Given the description of an element on the screen output the (x, y) to click on. 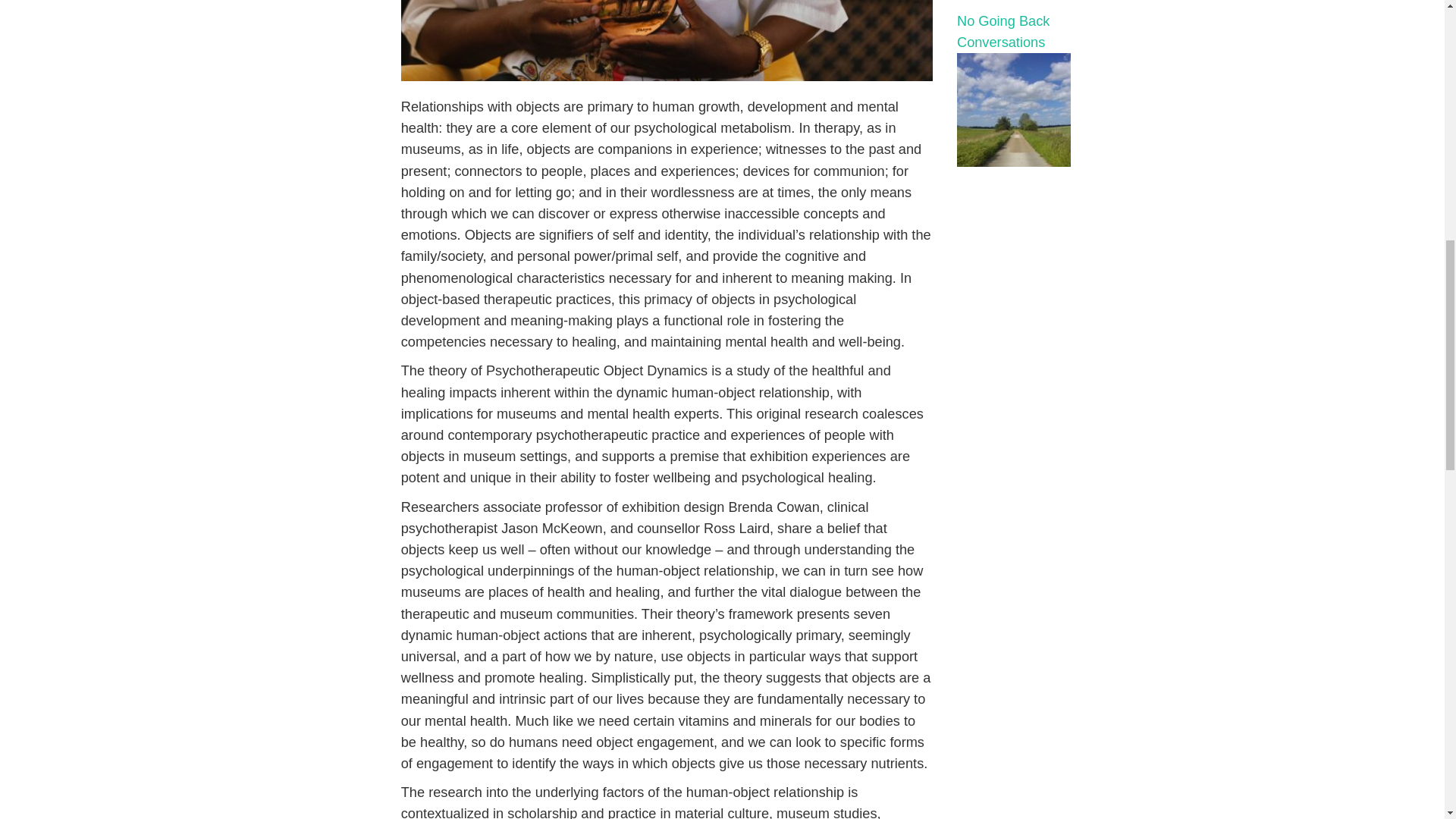
No Going Back Conversations (1048, 110)
